Given the description of an element on the screen output the (x, y) to click on. 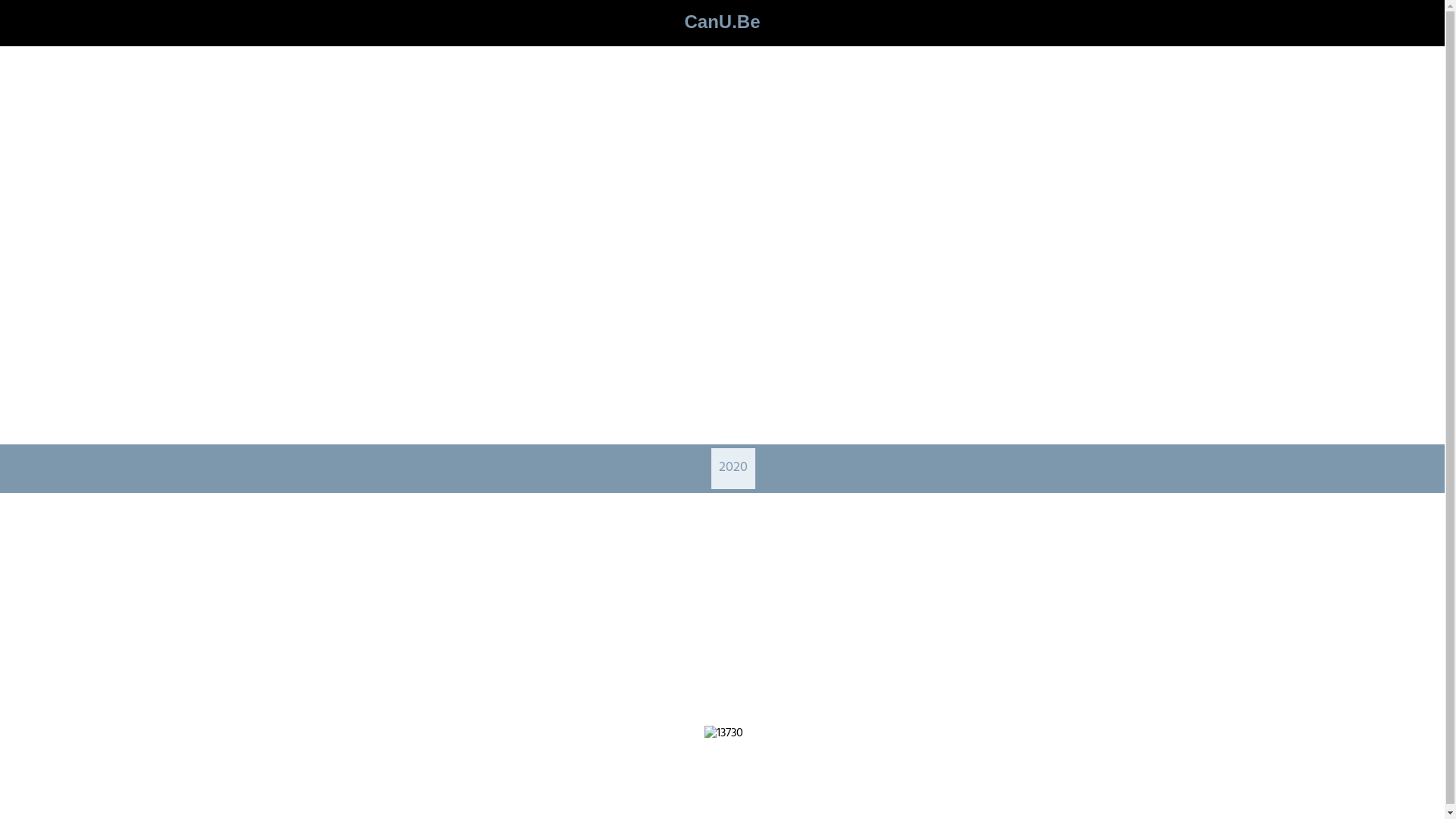
2020 Element type: text (732, 468)
